Given the description of an element on the screen output the (x, y) to click on. 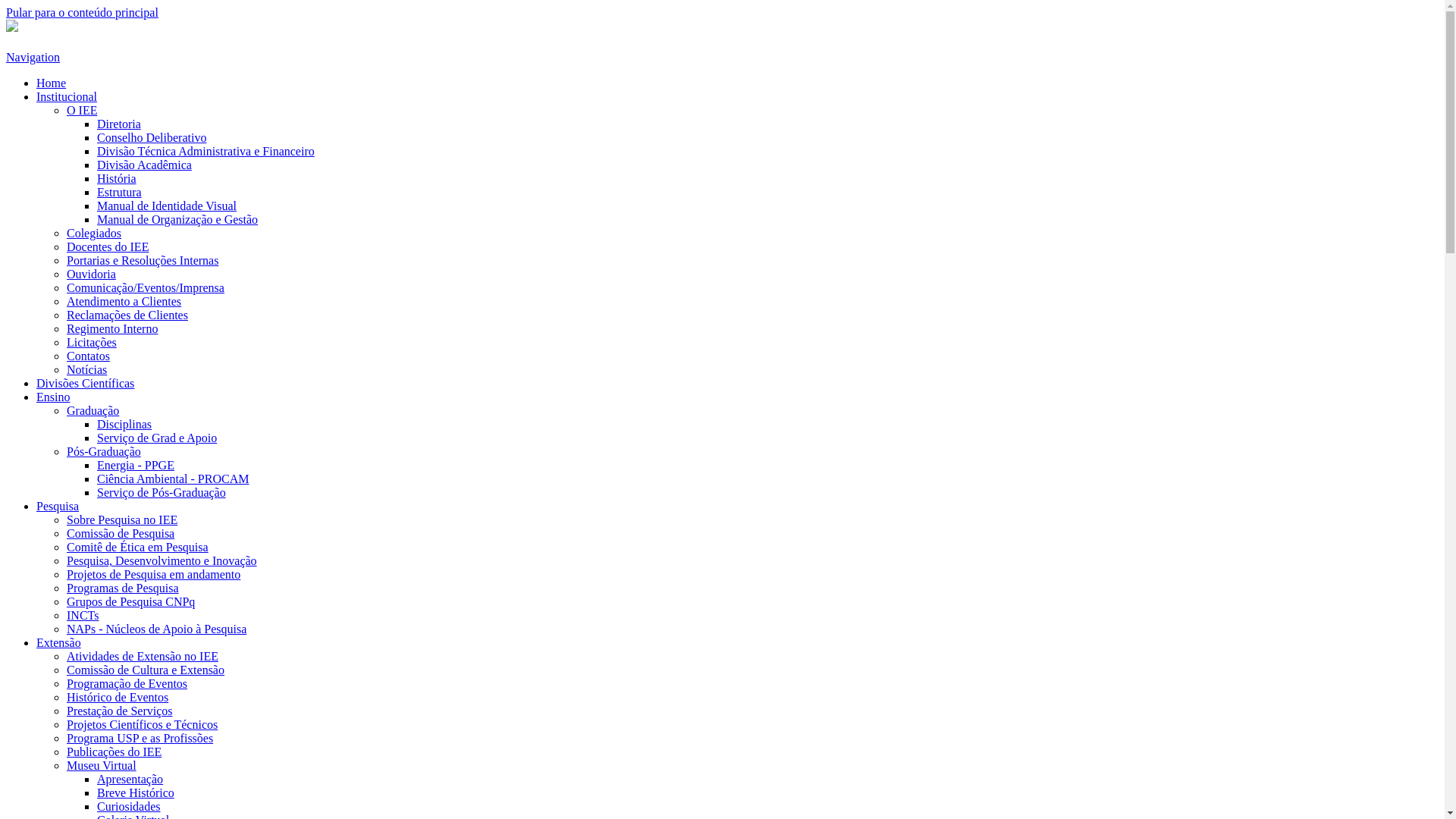
Museu Virtual Element type: text (101, 765)
Programas de Pesquisa Element type: text (122, 587)
Estrutura Element type: text (119, 191)
Regimento Interno Element type: text (111, 328)
Projetos de Pesquisa em andamento Element type: text (153, 573)
Docentes do IEE Element type: text (107, 246)
Disciplinas Element type: text (124, 423)
Diretoria Element type: text (119, 123)
INCTs Element type: text (82, 614)
Sobre Pesquisa no IEE Element type: text (121, 519)
Ensino Element type: text (52, 396)
Home Element type: text (50, 82)
Manual de Identidade Visual Element type: text (166, 205)
Energia - PPGE Element type: text (135, 464)
Contatos Element type: text (87, 355)
O IEE Element type: text (81, 109)
Colegiados Element type: text (93, 232)
Grupos de Pesquisa CNPq Element type: text (130, 601)
Curiosidades Element type: text (128, 806)
Conselho Deliberativo Element type: text (151, 137)
Atendimento a Clientes Element type: text (123, 300)
Ouvidoria Element type: text (91, 273)
Pesquisa Element type: text (57, 505)
Institucional Element type: text (66, 96)
Navigation Element type: text (32, 56)
